Given the description of an element on the screen output the (x, y) to click on. 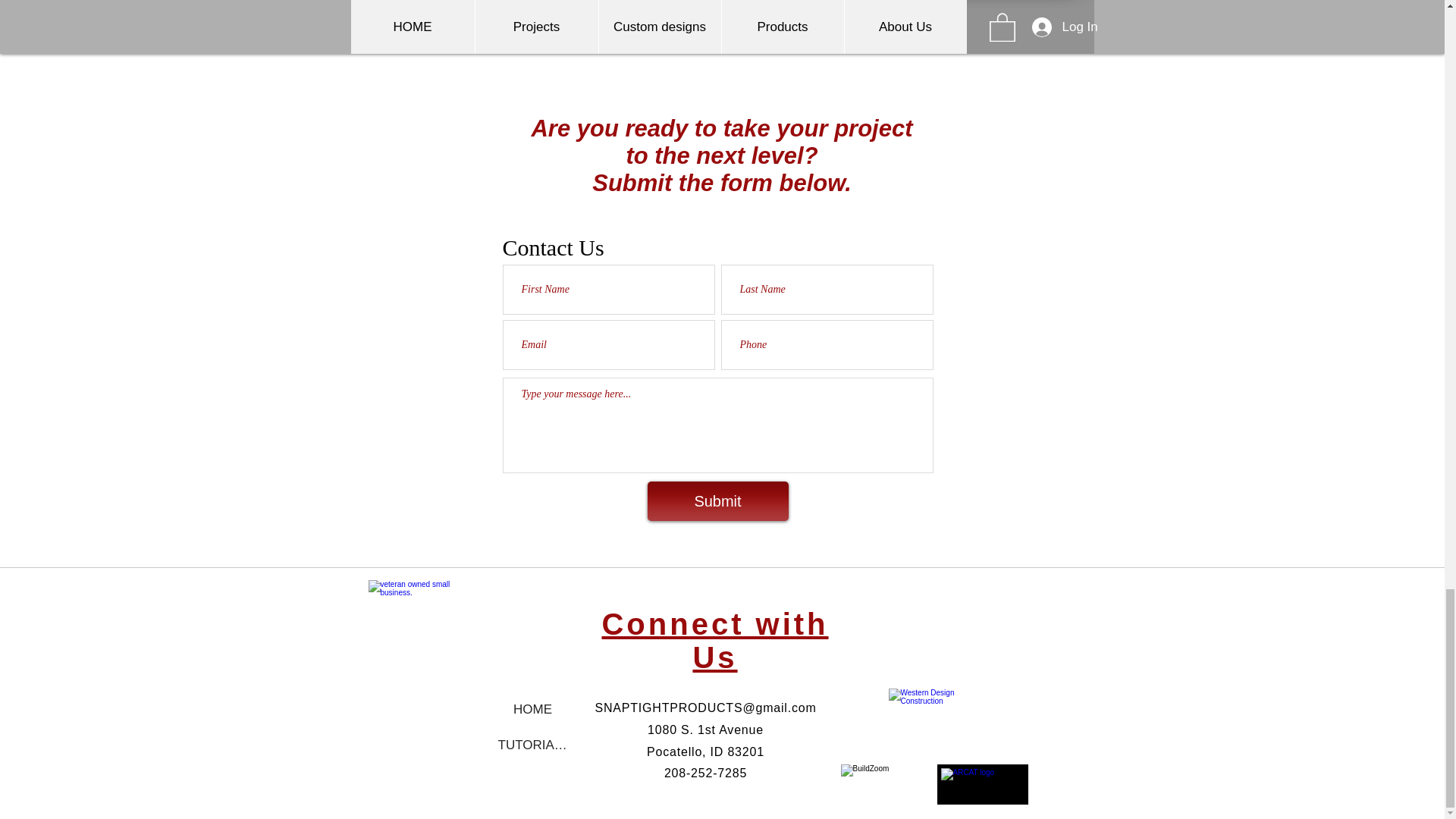
Submit (718, 500)
TUTORIALS (532, 745)
Connect with Us (714, 640)
Western Design Construction (939, 724)
veteran owned business (419, 623)
